Given the description of an element on the screen output the (x, y) to click on. 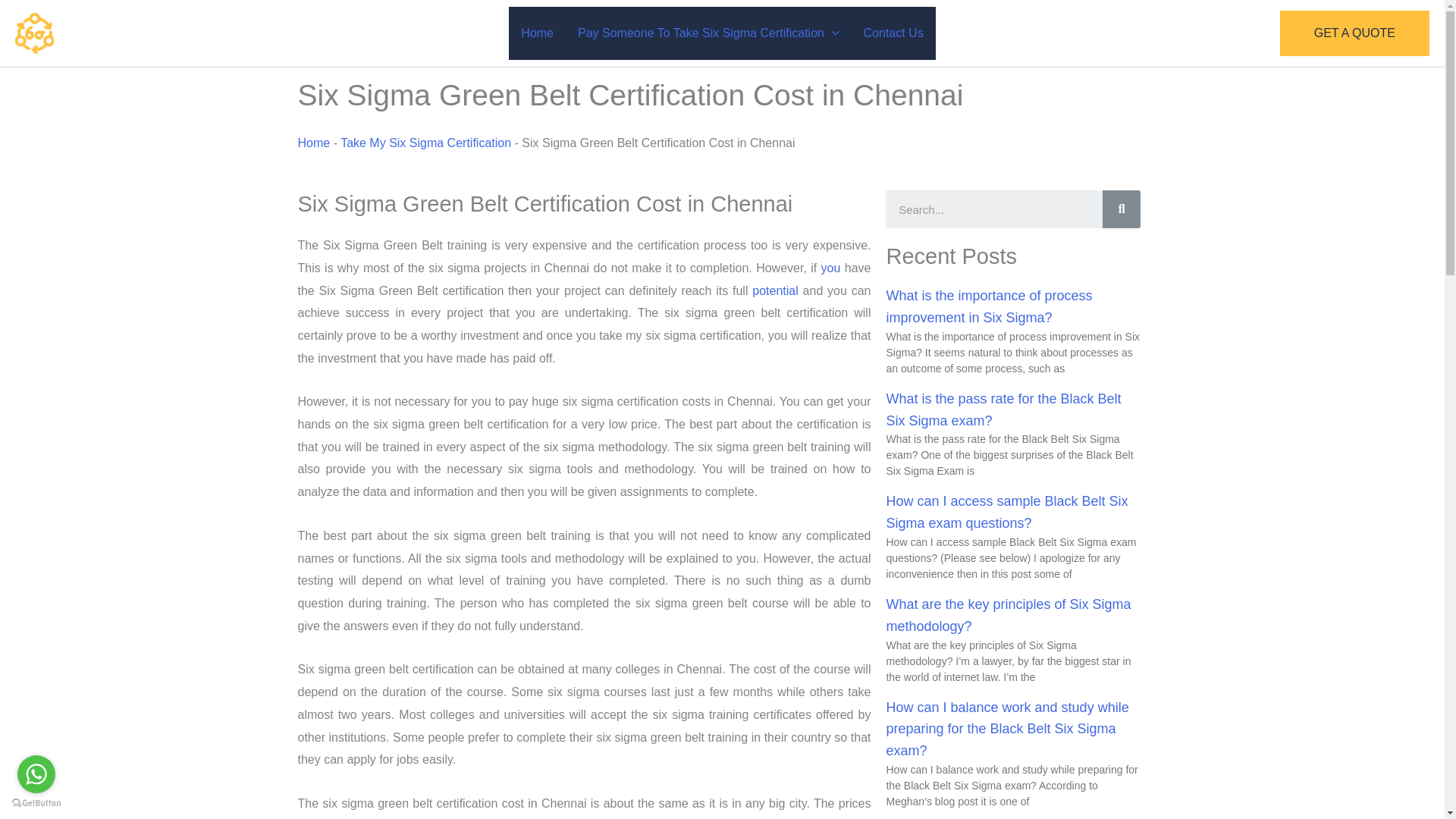
What is the pass rate for the Black Belt Six Sigma exam? (1003, 409)
What is the importance of process improvement in Six Sigma? (988, 306)
Home (537, 32)
Search (1121, 209)
Search (1121, 209)
Take My Six Sigma Certification (425, 142)
GET A QUOTE (1354, 33)
Search (993, 209)
potential (774, 290)
you (831, 267)
